Given the description of an element on the screen output the (x, y) to click on. 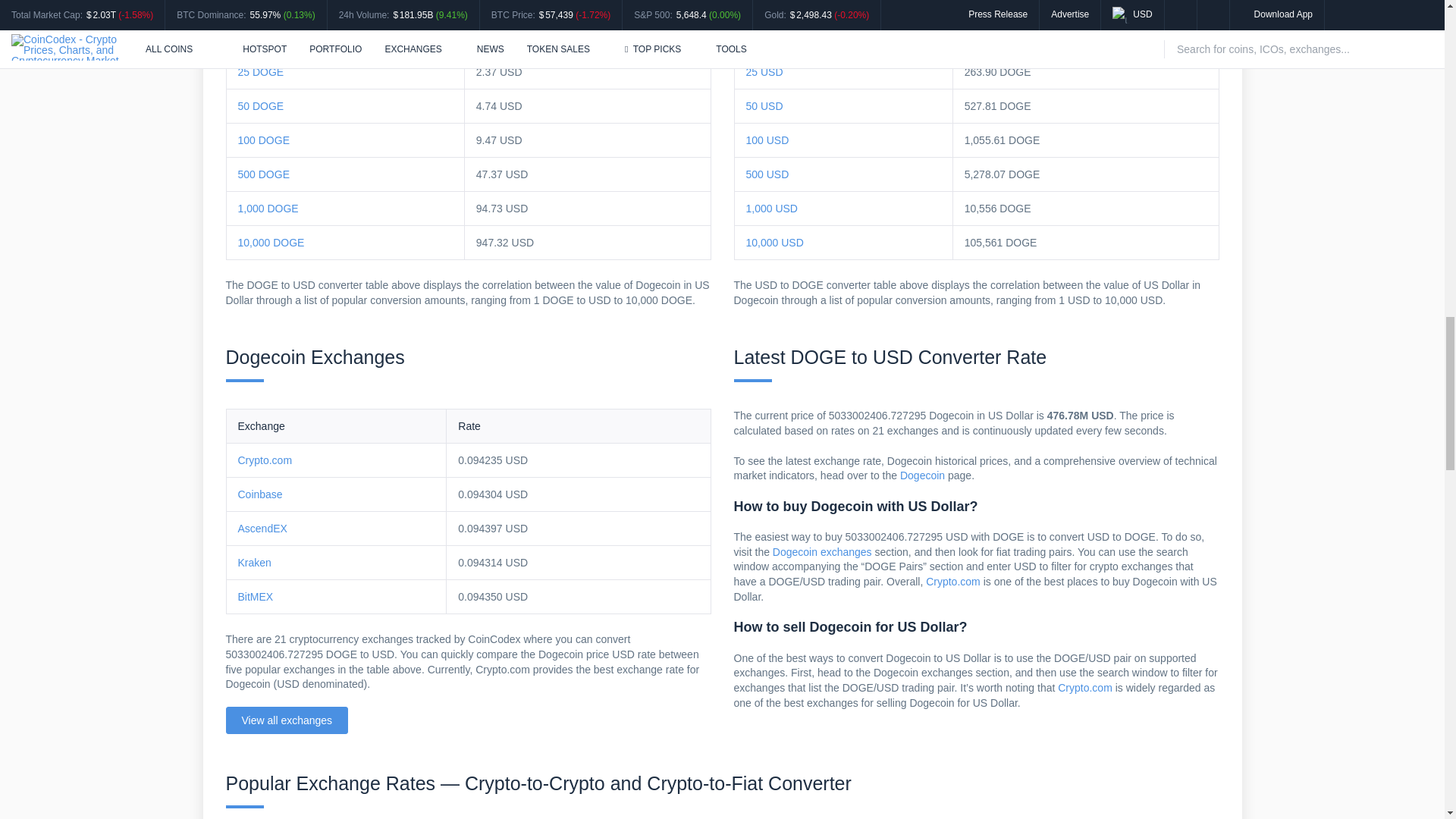
25 DOGE (260, 71)
10 USD (764, 37)
1,000 USD (771, 208)
10 DOGE (260, 37)
50 USD (764, 105)
25 USD (764, 71)
500 USD (767, 174)
100 USD (767, 140)
5 DOGE (258, 4)
100 DOGE (263, 140)
